Given the description of an element on the screen output the (x, y) to click on. 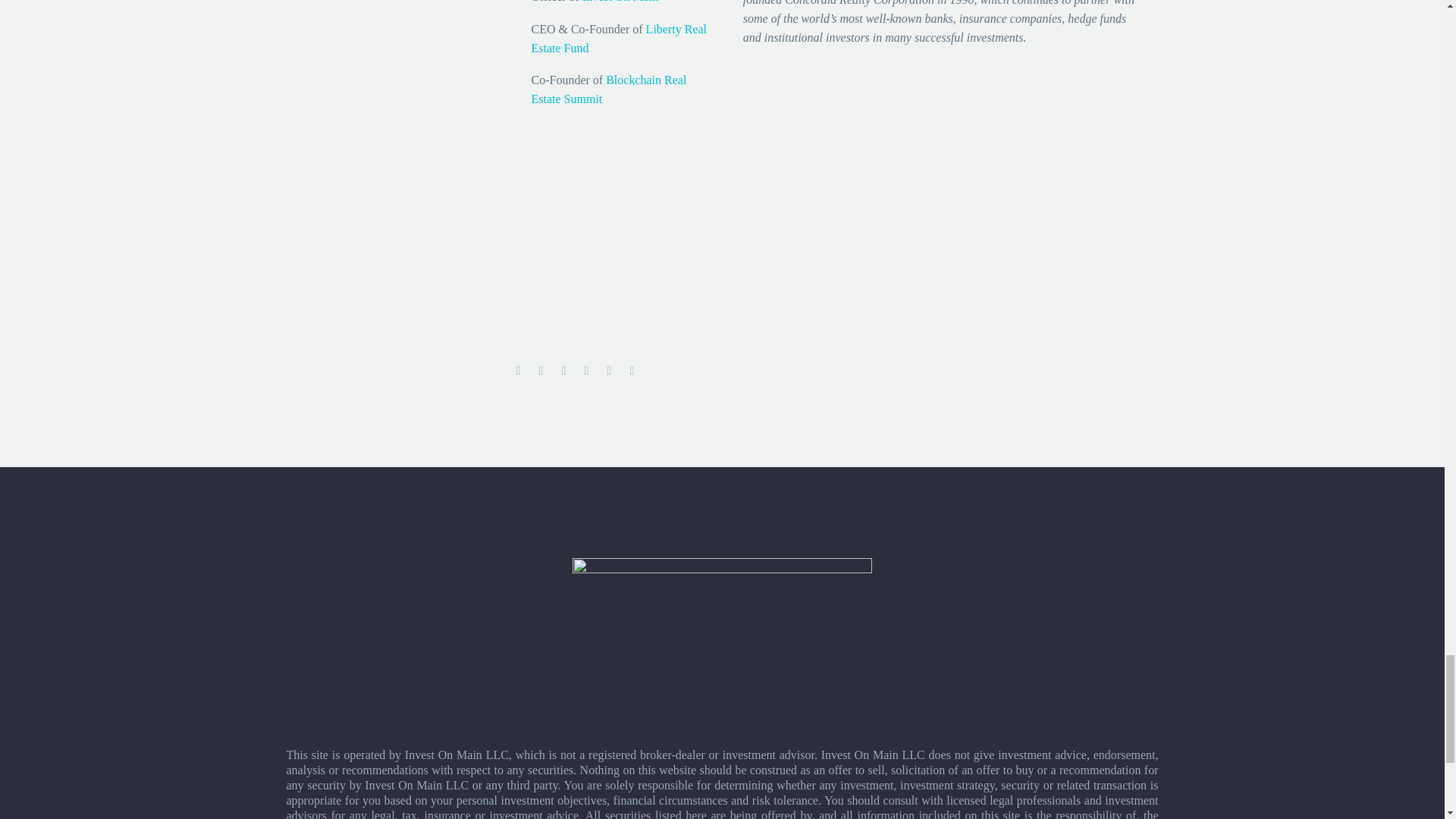
LinkedIn (609, 370)
Twitter (541, 370)
Pinterest (563, 370)
Facebook (518, 370)
Tumblr (586, 370)
Reddit (632, 370)
